Given the description of an element on the screen output the (x, y) to click on. 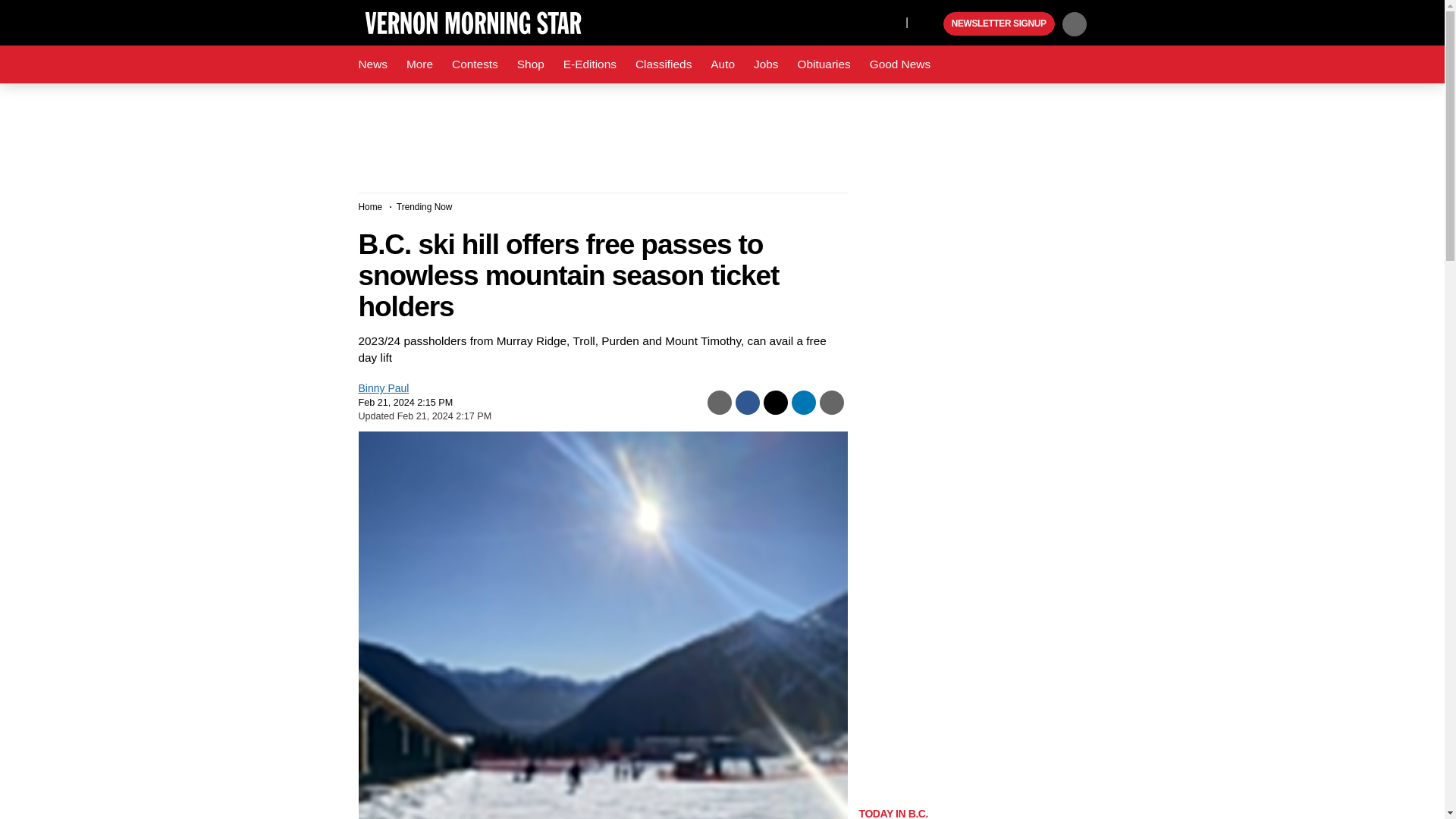
Black Press Media (929, 24)
News (372, 64)
Play (929, 24)
NEWSLETTER SIGNUP (998, 24)
X (889, 21)
